Given the description of an element on the screen output the (x, y) to click on. 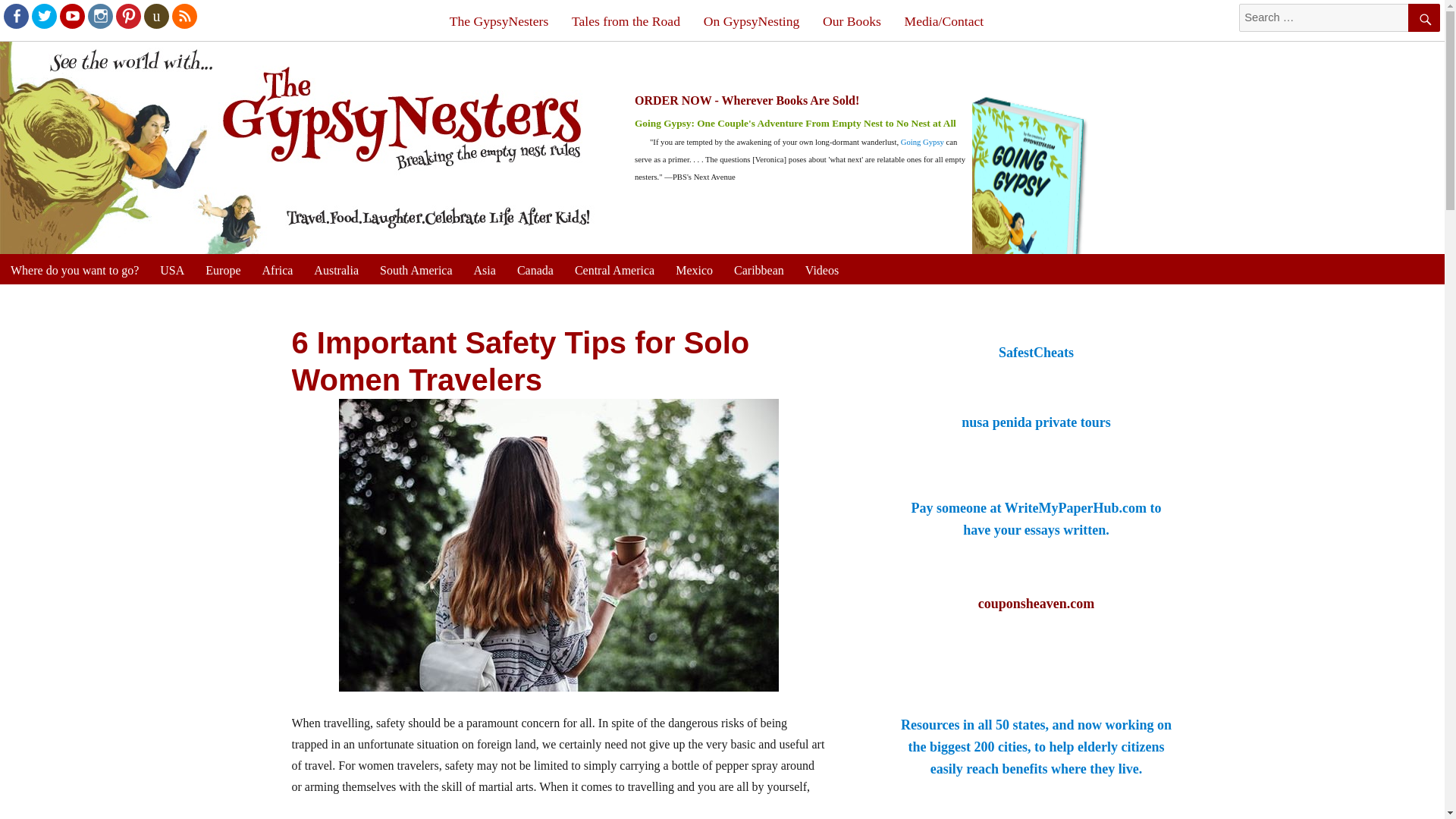
Tales from the Road (626, 21)
Our Books (851, 21)
Going Gypsy (922, 142)
Going Gypsy:  (665, 122)
Instagram (98, 15)
Facebook (15, 15)
USA (172, 269)
RSS (183, 15)
Youtube (70, 15)
Where do you want to go? (74, 269)
Pinterest (127, 15)
Goodreads (155, 15)
On GypsyNesting (750, 21)
Twitter (43, 15)
